Given the description of an element on the screen output the (x, y) to click on. 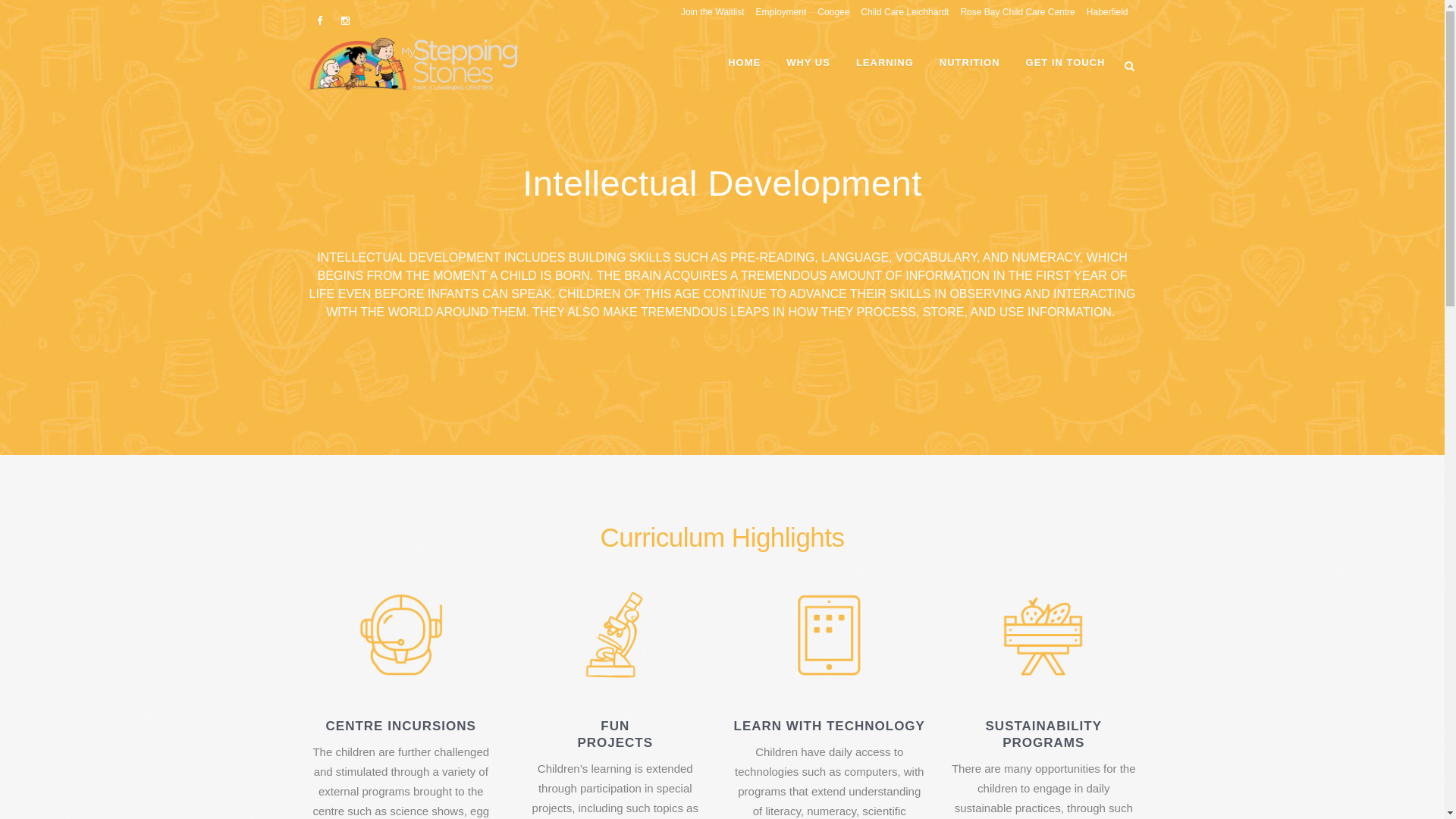
GET IN TOUCH Element type: text (1065, 62)
Join the Waitlist Element type: text (706, 12)
Child Care Leichhardt Element type: text (898, 12)
Employment Element type: text (775, 12)
Coogee Element type: text (827, 12)
WHY US Element type: text (808, 62)
Rose Bay Child Care Centre Element type: text (1011, 12)
HOME Element type: text (744, 62)
Haberfield Element type: text (1101, 12)
LEARNING Element type: text (884, 62)
NUTRITION Element type: text (969, 62)
